Given the description of an element on the screen output the (x, y) to click on. 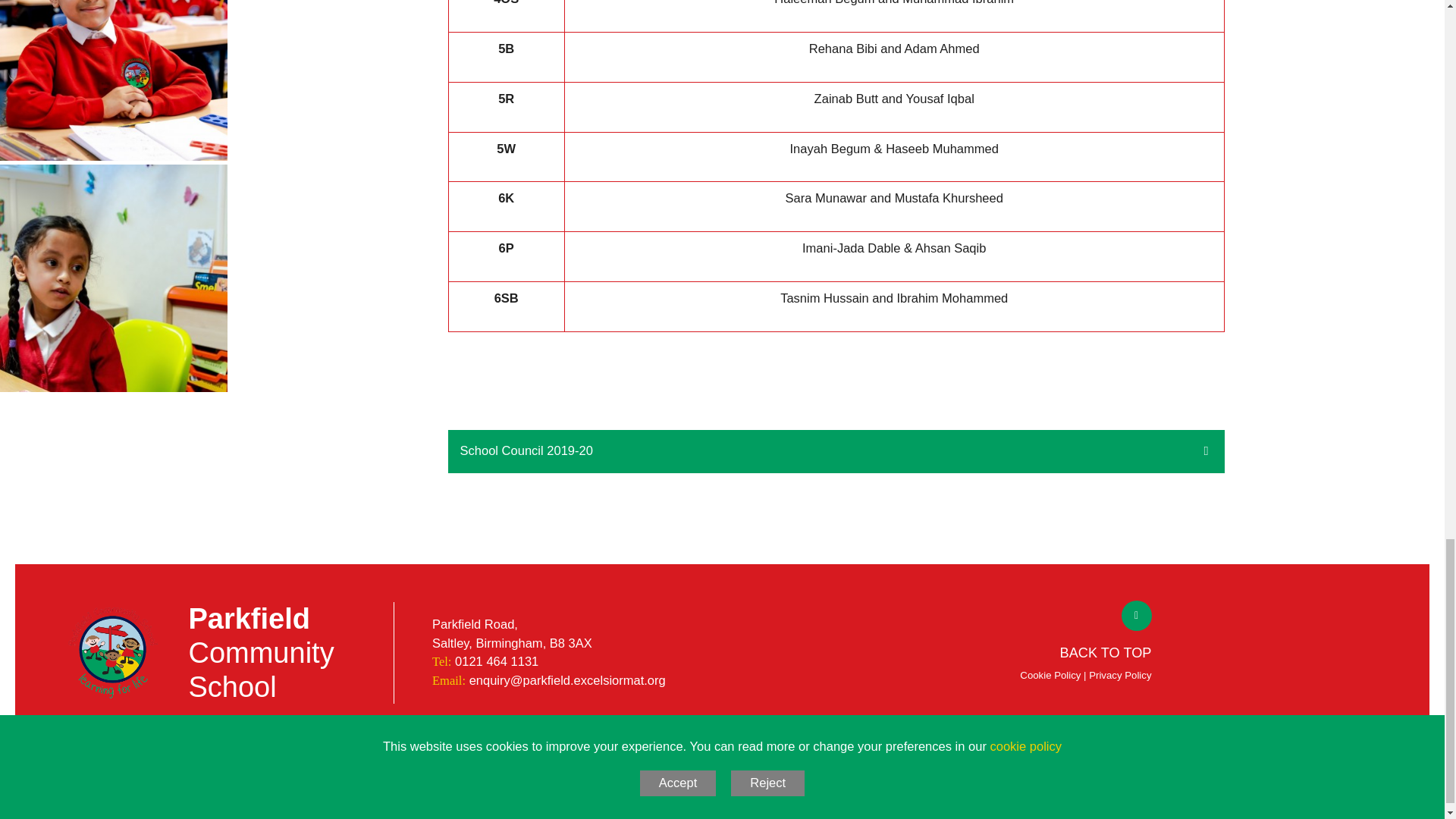
BACK TO TOP (1085, 653)
